Given the description of an element on the screen output the (x, y) to click on. 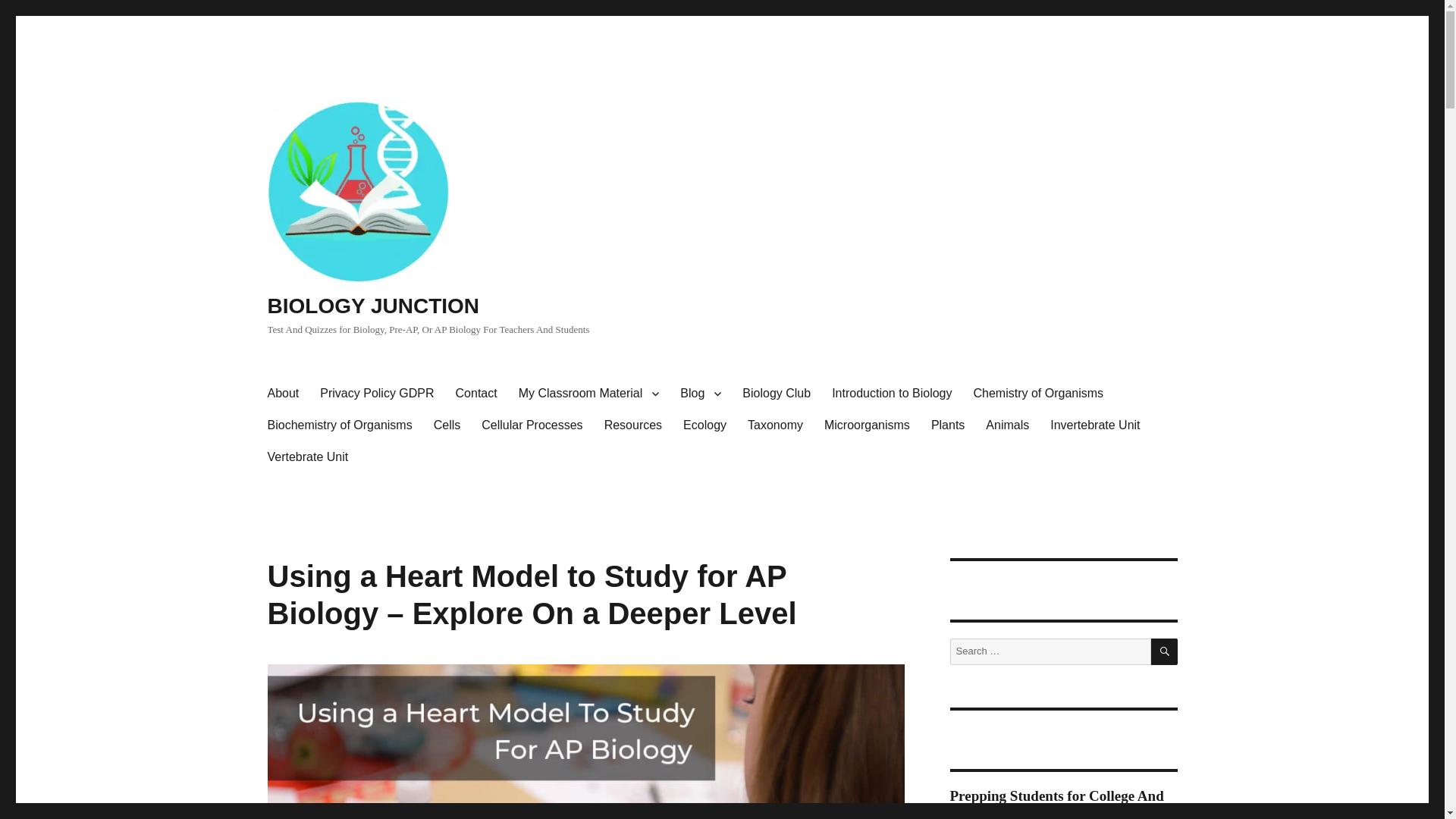
BIOLOGY JUNCTION (372, 305)
Resources (633, 425)
Cellular Processes (531, 425)
Cells (447, 425)
Privacy Policy GDPR (376, 393)
About (282, 393)
Contact (476, 393)
Introduction to Biology (891, 393)
Chemistry of Organisms (1037, 393)
My Classroom Material (588, 393)
Blog (700, 393)
Biology Club (776, 393)
Taxonomy (774, 425)
Ecology (704, 425)
Biochemistry of Organisms (339, 425)
